Given the description of an element on the screen output the (x, y) to click on. 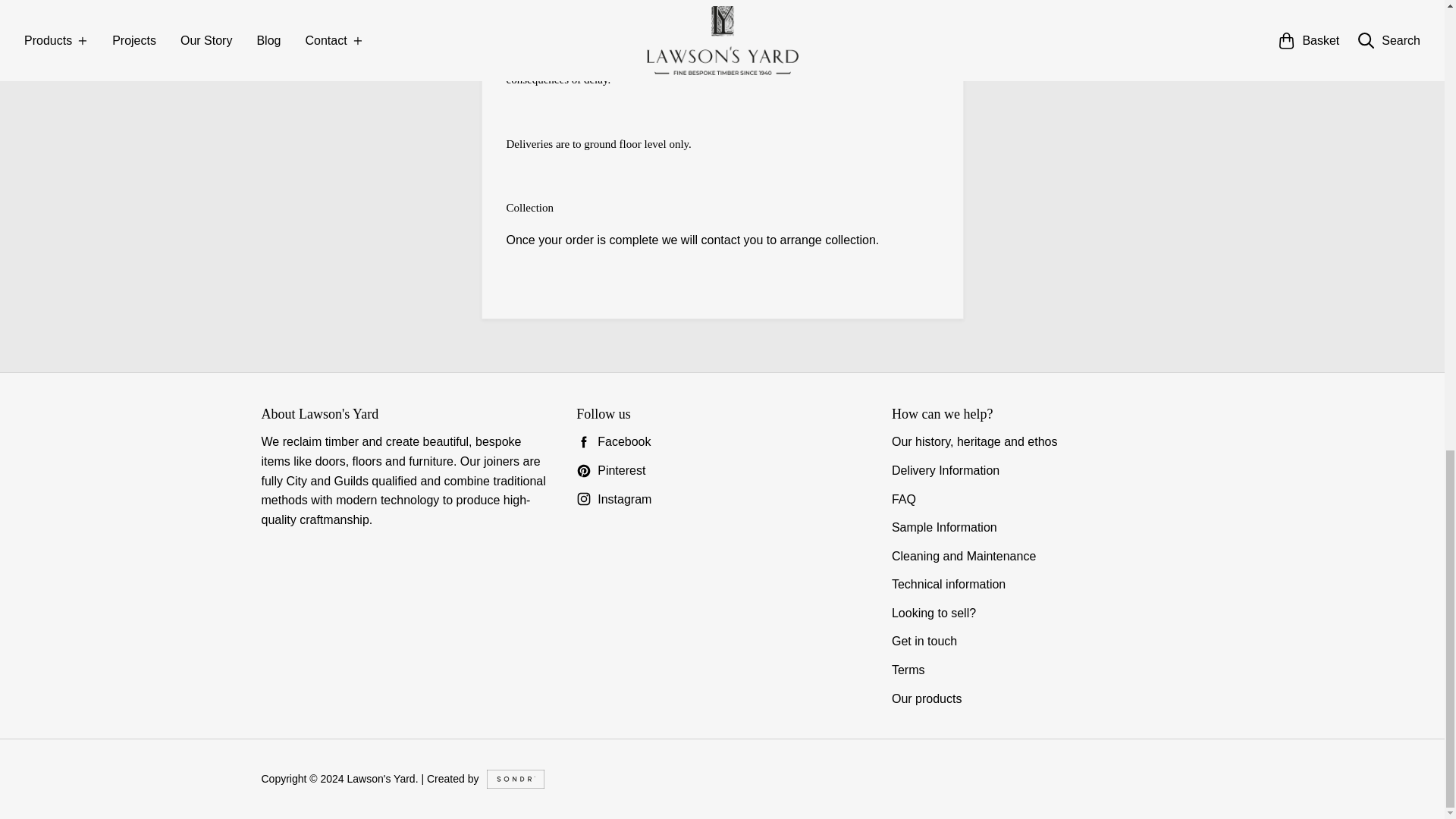
Pinterest (721, 470)
Facebook (721, 442)
Instagram (721, 499)
